Given the description of an element on the screen output the (x, y) to click on. 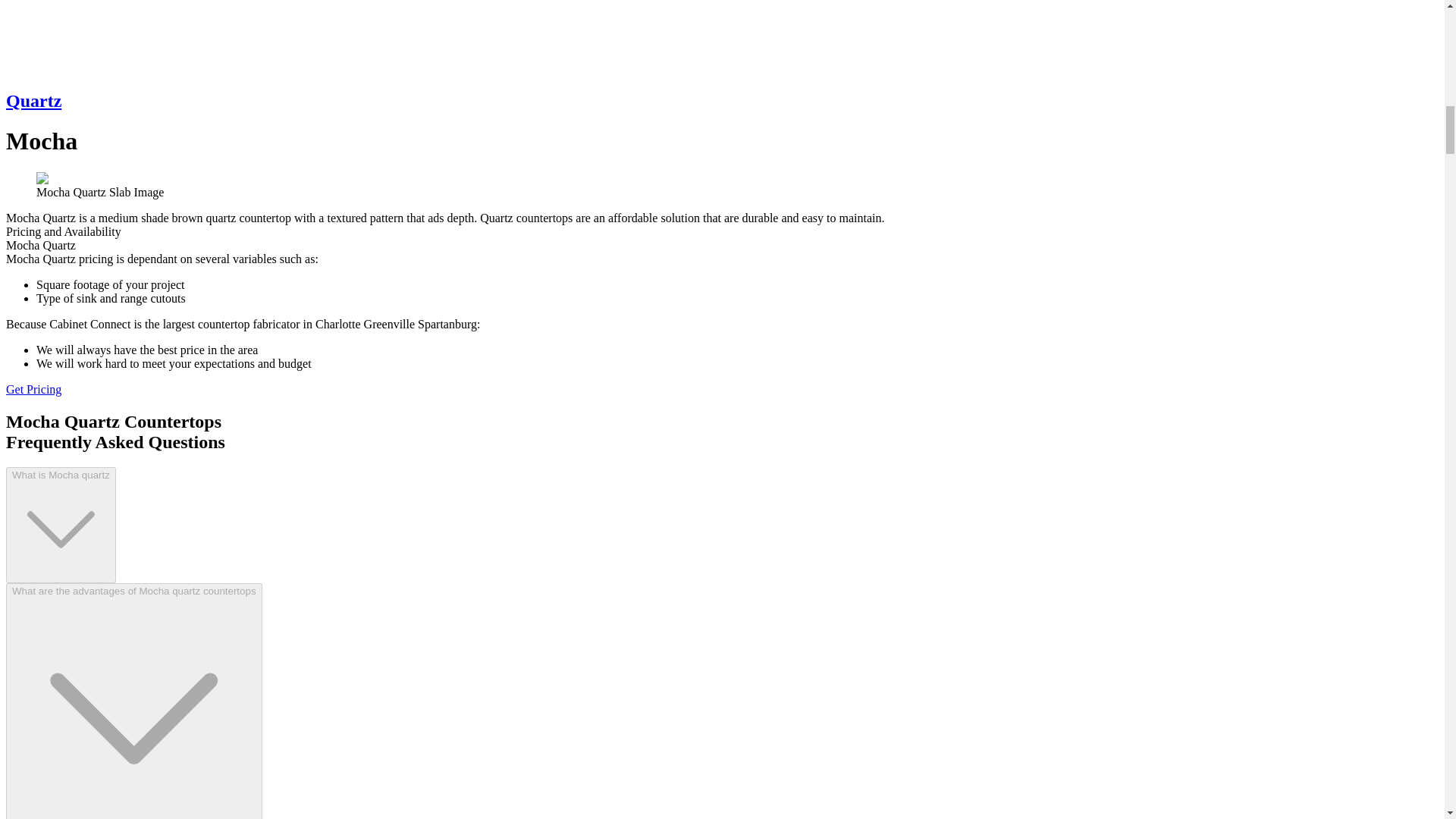
Get Pricing (33, 389)
What are the advantages of Mocha quartz countertops (133, 701)
What is Mocha quartz (60, 524)
